Given the description of an element on the screen output the (x, y) to click on. 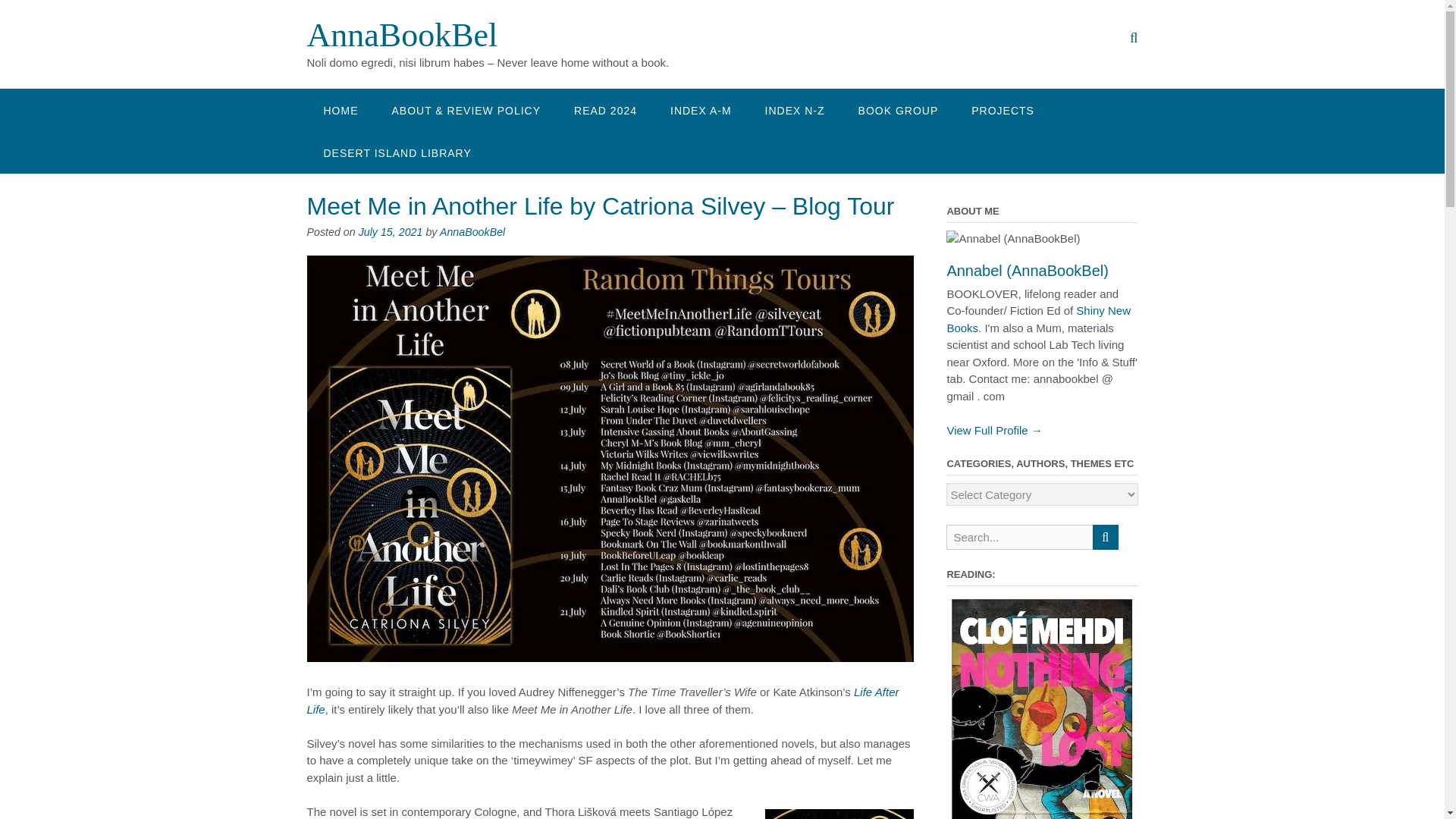
AnnaBookBel (472, 232)
Life After Life (601, 700)
INDEX A-M (700, 109)
HOME (339, 109)
DESERT ISLAND LIBRARY (396, 152)
PROJECTS (1003, 109)
READ 2024 (605, 109)
BOOK GROUP (898, 109)
Search for: (1019, 536)
AnnaBookBel (401, 35)
